Given the description of an element on the screen output the (x, y) to click on. 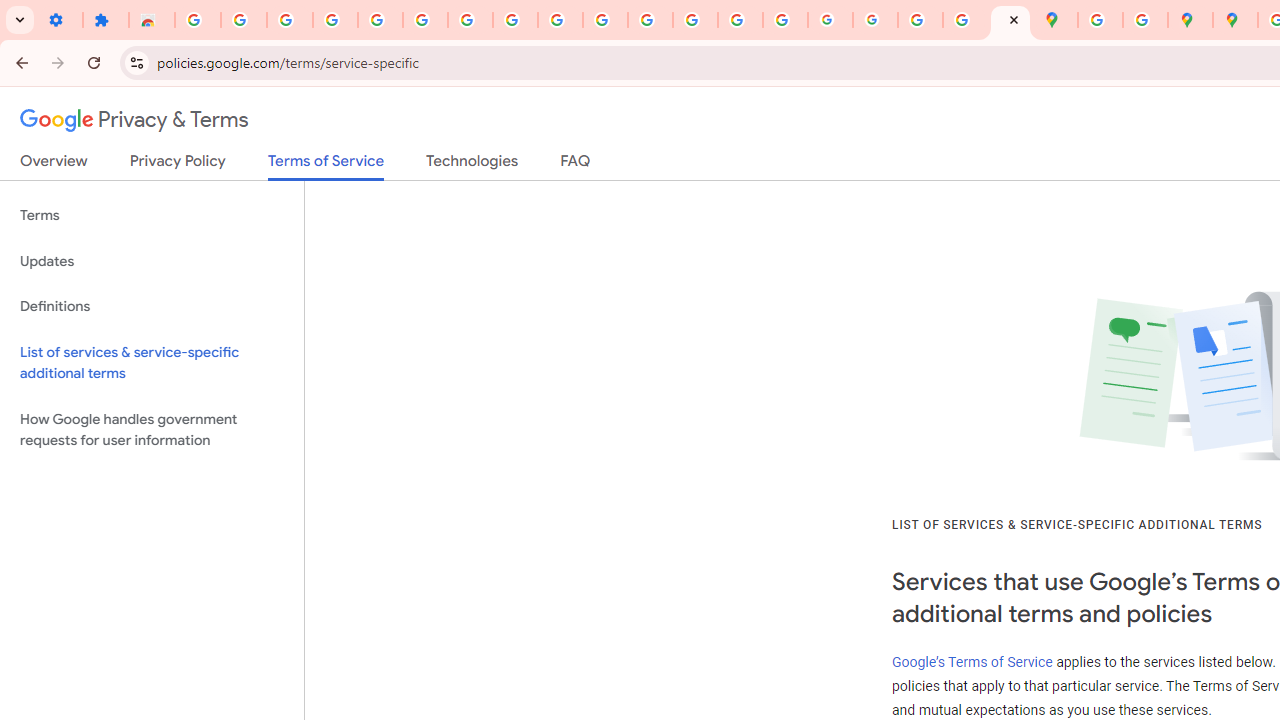
Google Maps (1055, 20)
Safety in Our Products - Google Safety Center (1145, 20)
Sign in - Google Accounts (425, 20)
Settings - On startup (60, 20)
